Given the description of an element on the screen output the (x, y) to click on. 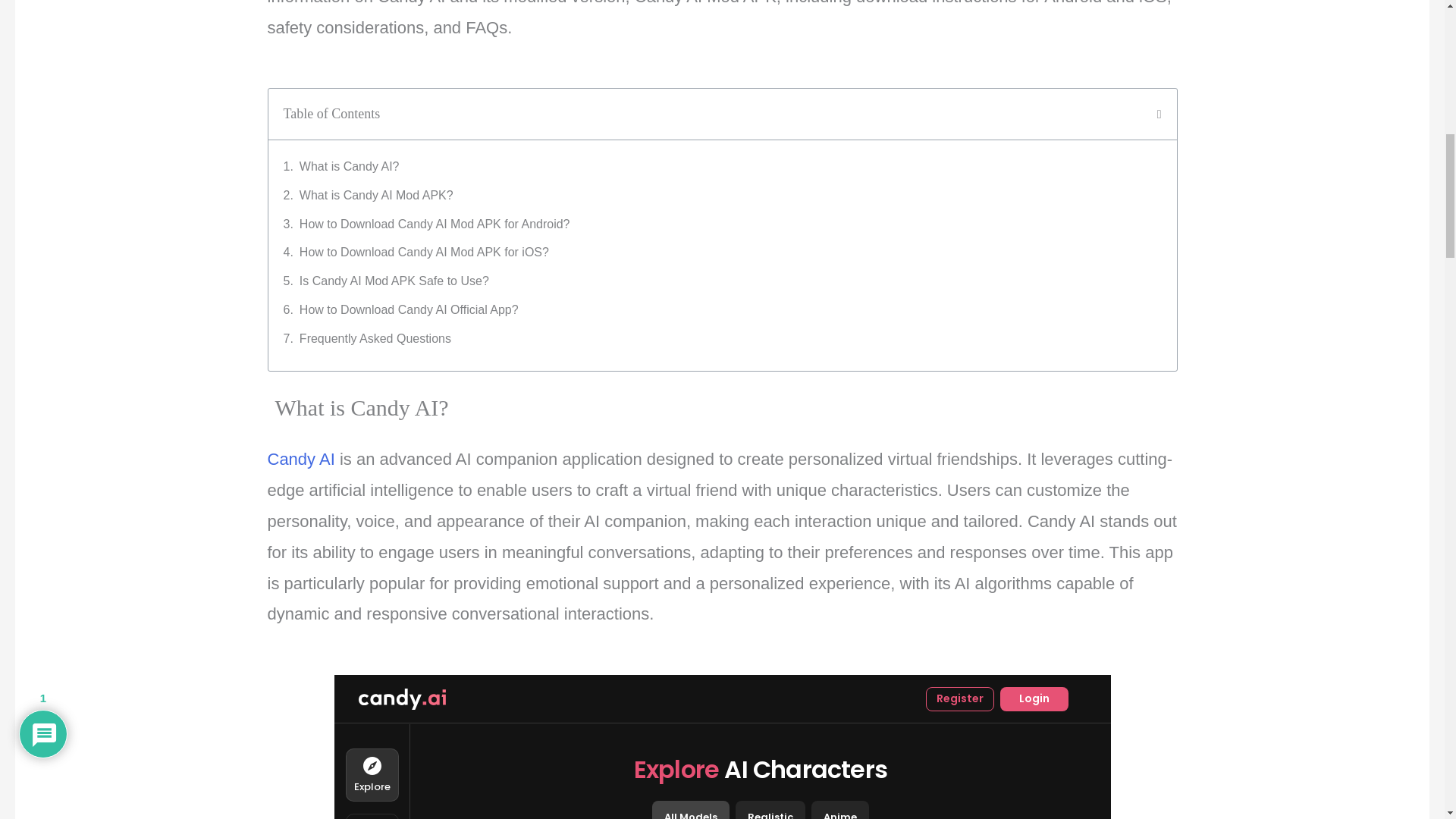
How to Download Candy AI Mod APK for iOS? (423, 251)
How to Download Candy AI Official App? (408, 309)
How to Download Candy AI Mod APK for Android? (434, 223)
Frequently Asked Questions (375, 338)
Is Candy AI Mod APK Safe to Use? (394, 281)
What is Candy AI Mod APK? (375, 195)
Candy AI (300, 458)
What is Candy AI? (348, 166)
